Given the description of an element on the screen output the (x, y) to click on. 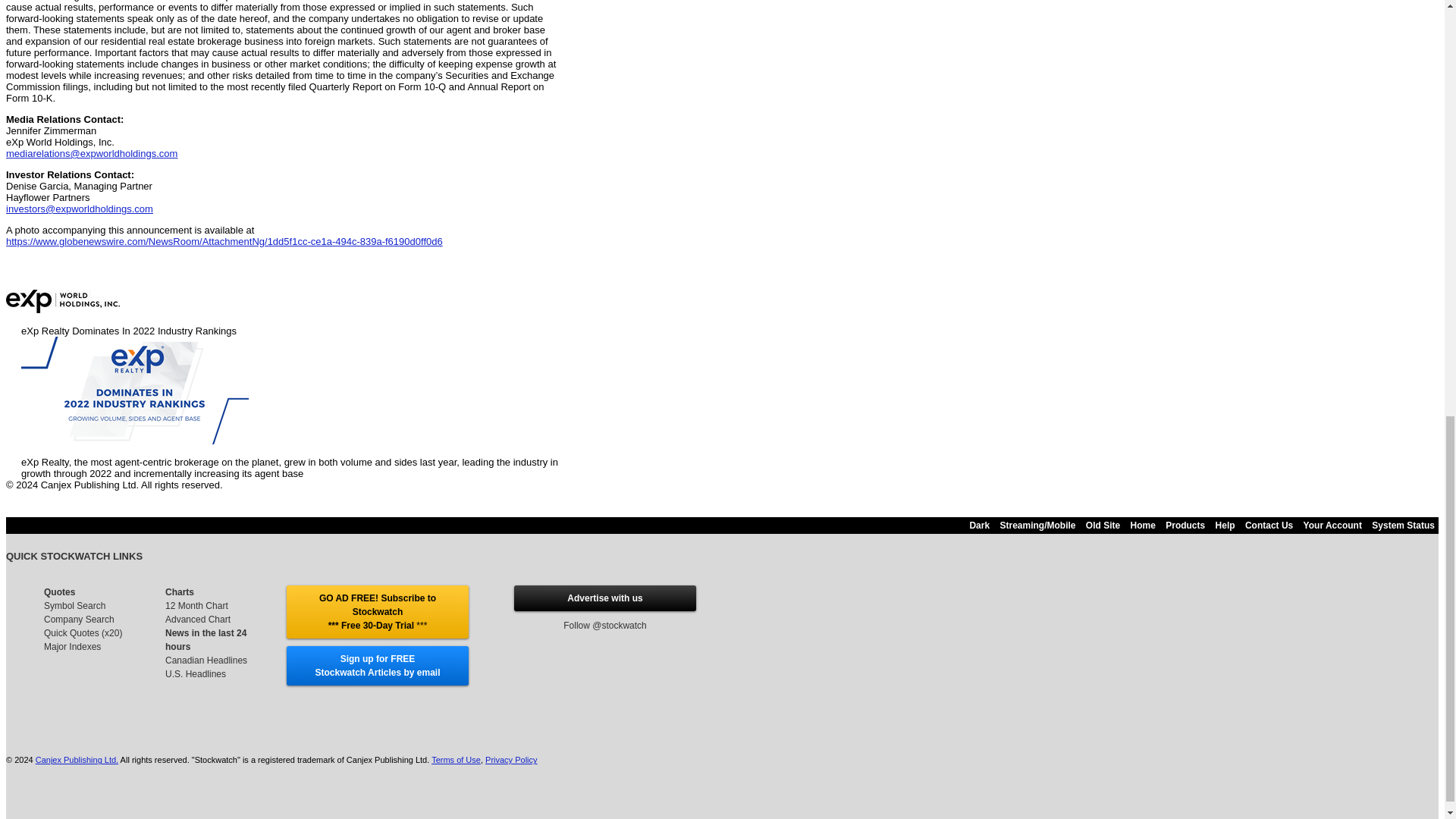
Reach Interested and Active Investors (604, 597)
Start with a FREE 30 day trial (376, 611)
